Given the description of an element on the screen output the (x, y) to click on. 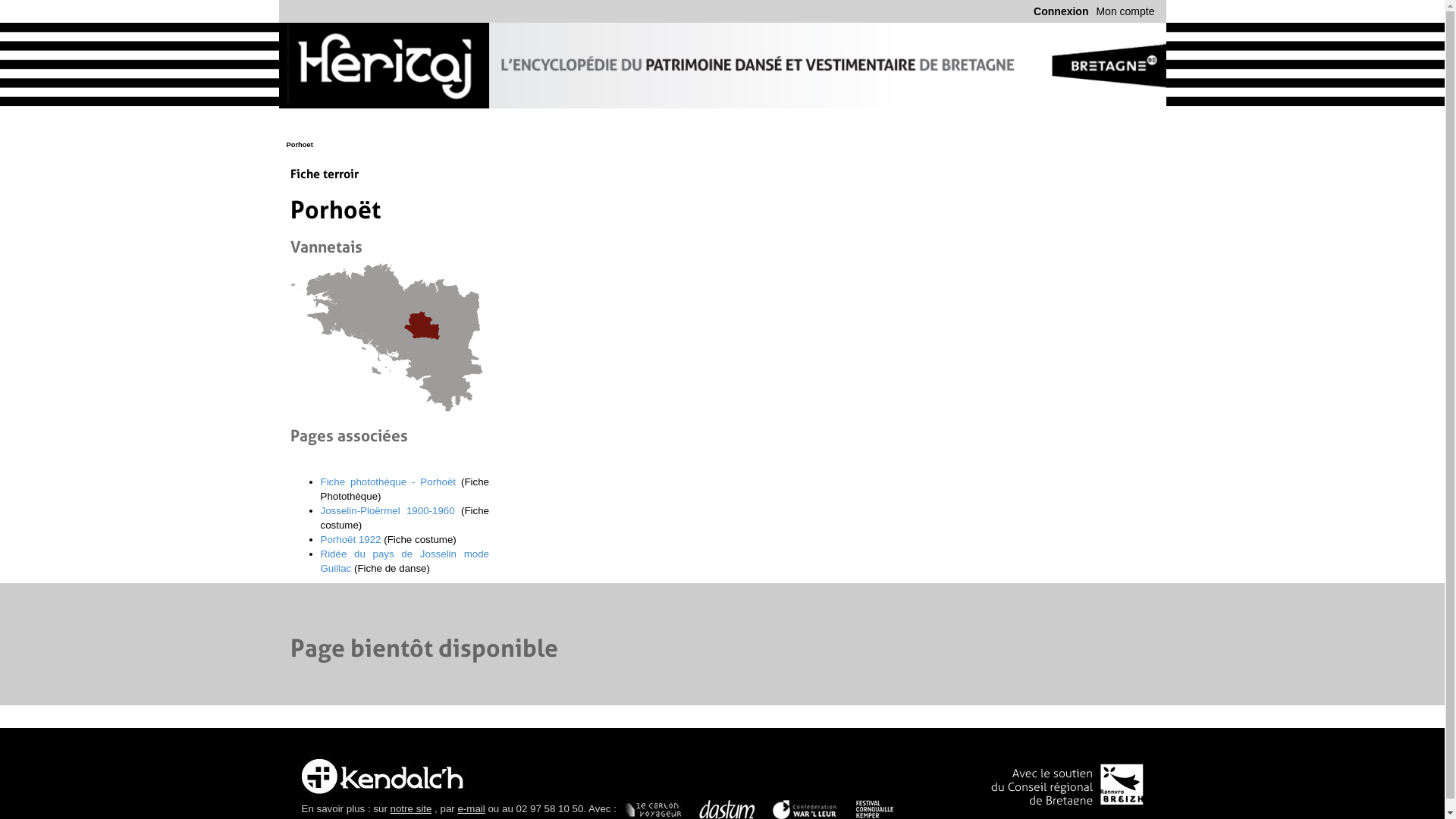
notre site Element type: text (411, 808)
Connexion Element type: text (1060, 11)
e-mail Element type: text (470, 808)
Mon compte Element type: text (1124, 11)
